Given the description of an element on the screen output the (x, y) to click on. 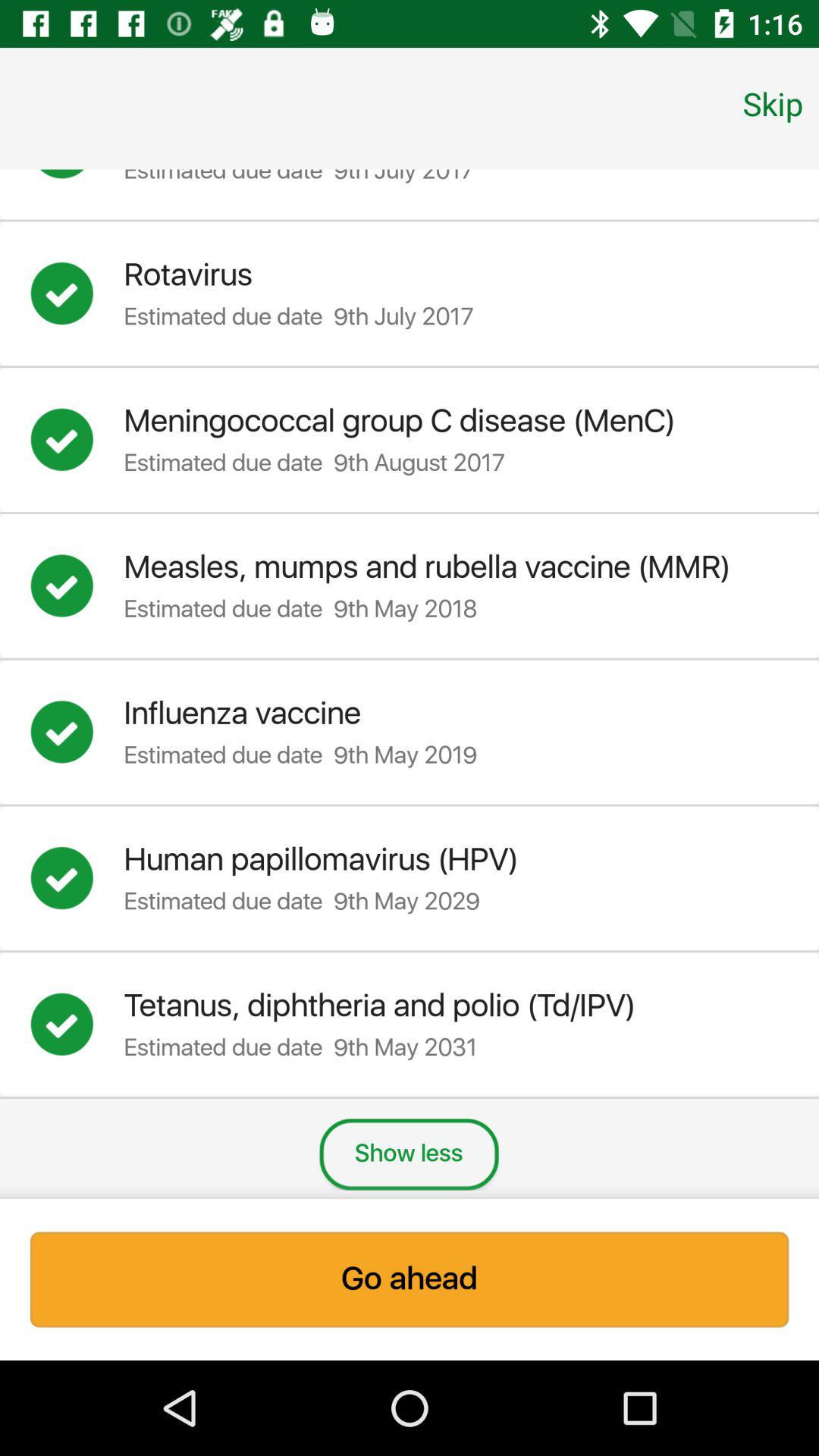
turn on skip item (772, 103)
